Given the description of an element on the screen output the (x, y) to click on. 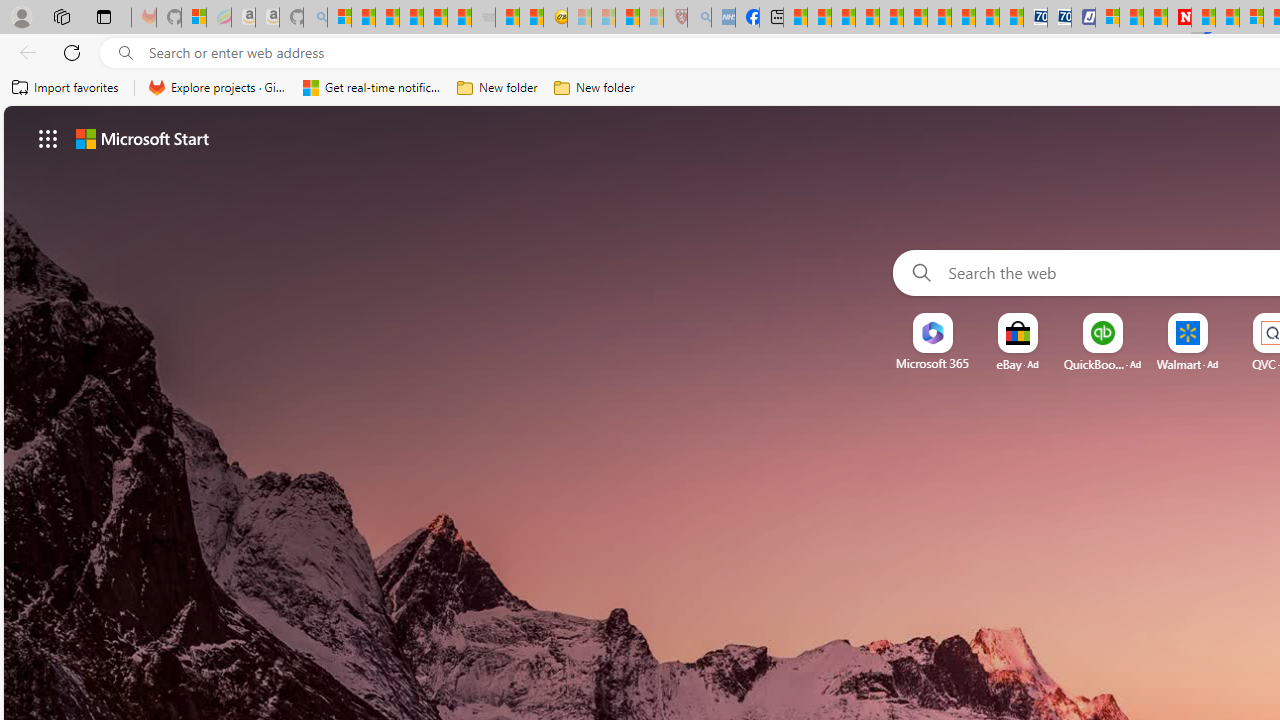
New Report Confirms 2023 Was Record Hot | Watch (434, 17)
Trusted Community Engagement and Contributions | Guidelines (1202, 17)
To get missing image descriptions, open the context menu. (932, 333)
Newsweek - News, Analysis, Politics, Business, Technology (1179, 17)
Science - MSN (626, 17)
